Given the description of an element on the screen output the (x, y) to click on. 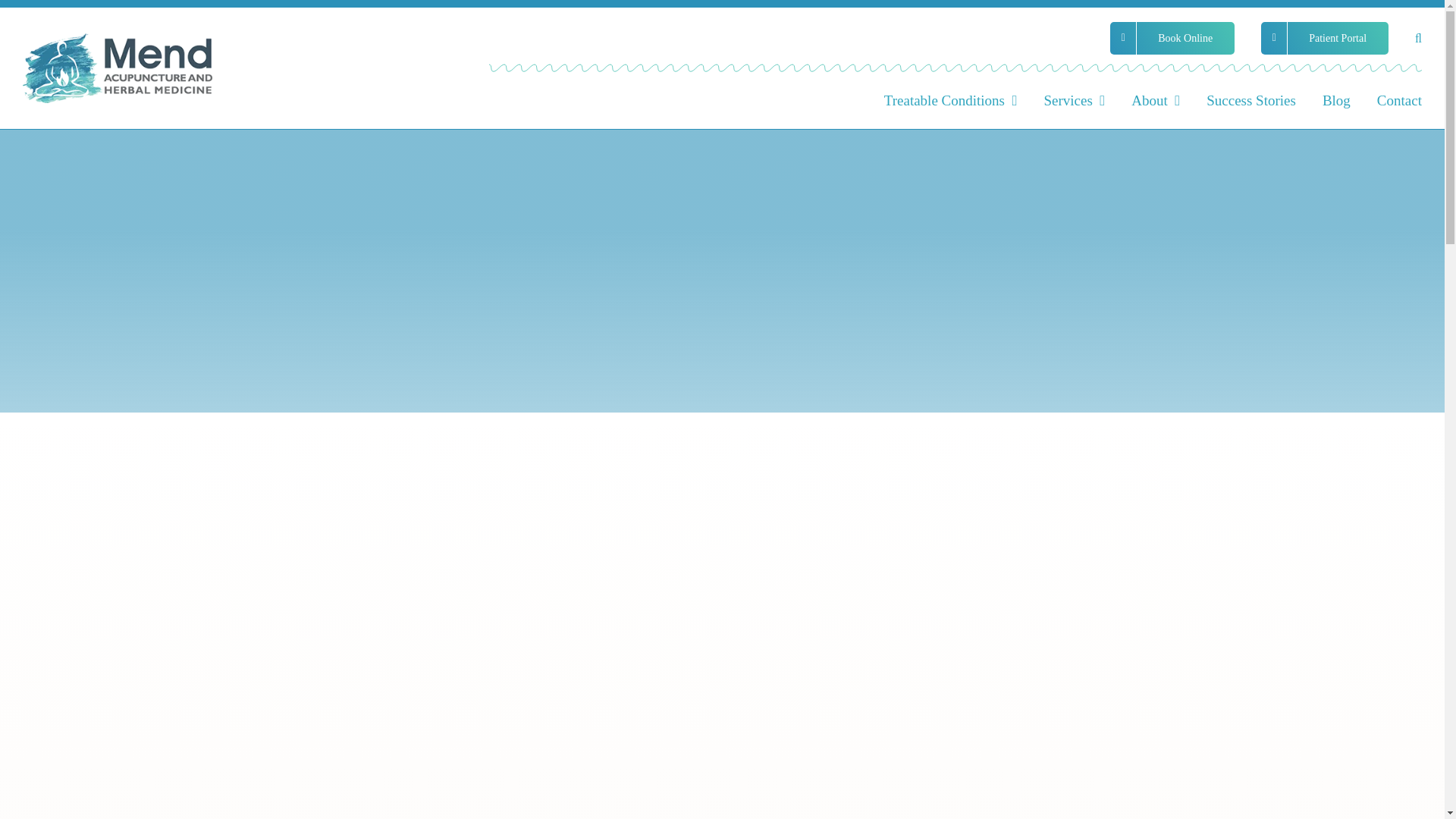
Patient Portal (1324, 37)
Book Online (1171, 37)
About (1155, 98)
Services (1074, 98)
Treatable Conditions (950, 98)
Contact (1399, 98)
Success Stories (1251, 98)
